Given the description of an element on the screen output the (x, y) to click on. 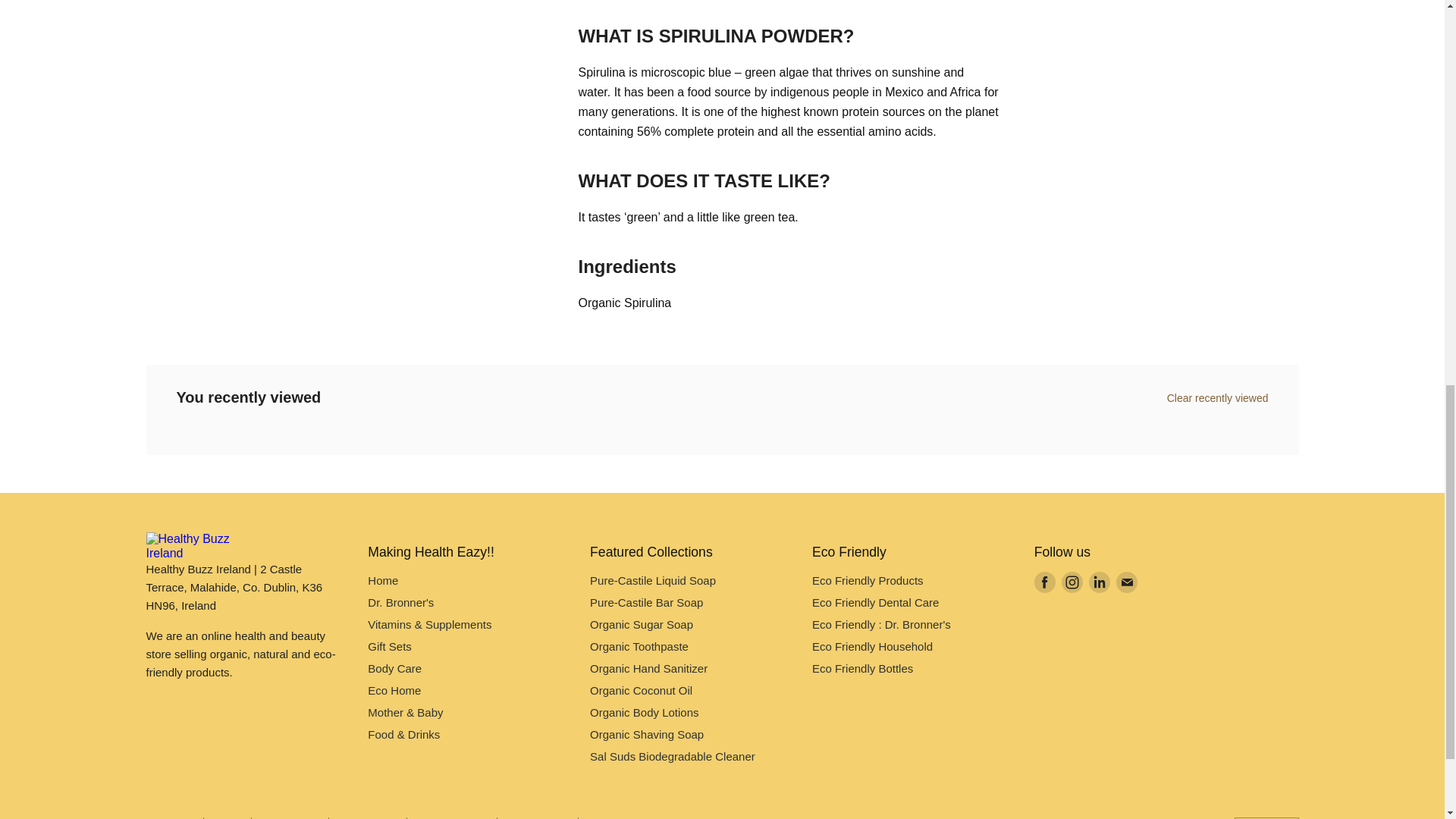
LinkedIn (1099, 582)
E-mail (1126, 582)
Instagram (1072, 582)
Facebook (1044, 582)
